Given the description of an element on the screen output the (x, y) to click on. 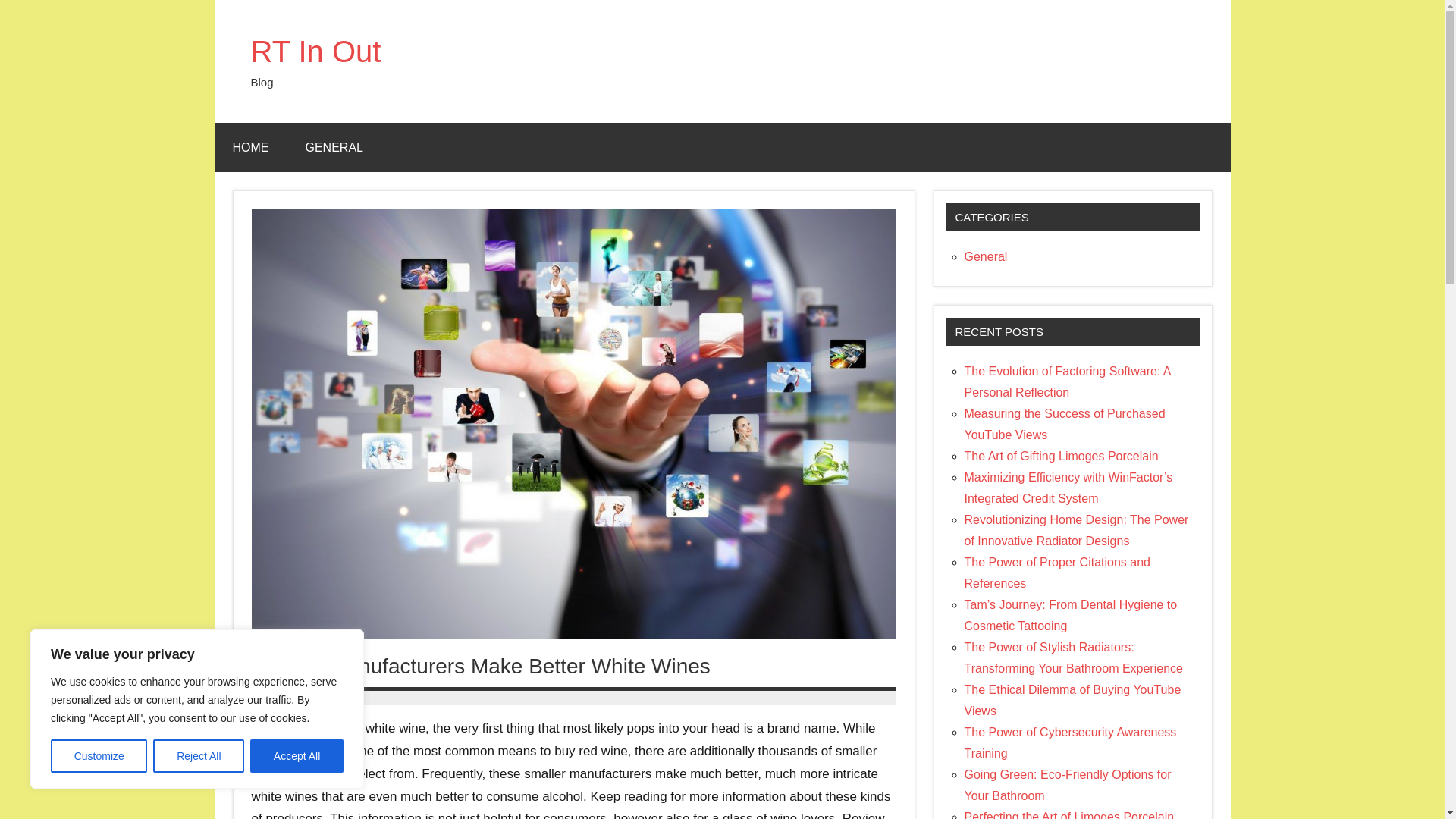
The Evolution of Factoring Software: A Personal Reflection (1066, 381)
GENERAL (333, 146)
Reject All (198, 756)
Accept All (296, 756)
Customize (98, 756)
General (985, 256)
The Power of Proper Citations and References (1056, 572)
Measuring the Success of Purchased YouTube Views (1064, 424)
The Art of Gifting Limoges Porcelain (1060, 455)
RT In Out (315, 51)
HOME (250, 146)
